Given the description of an element on the screen output the (x, y) to click on. 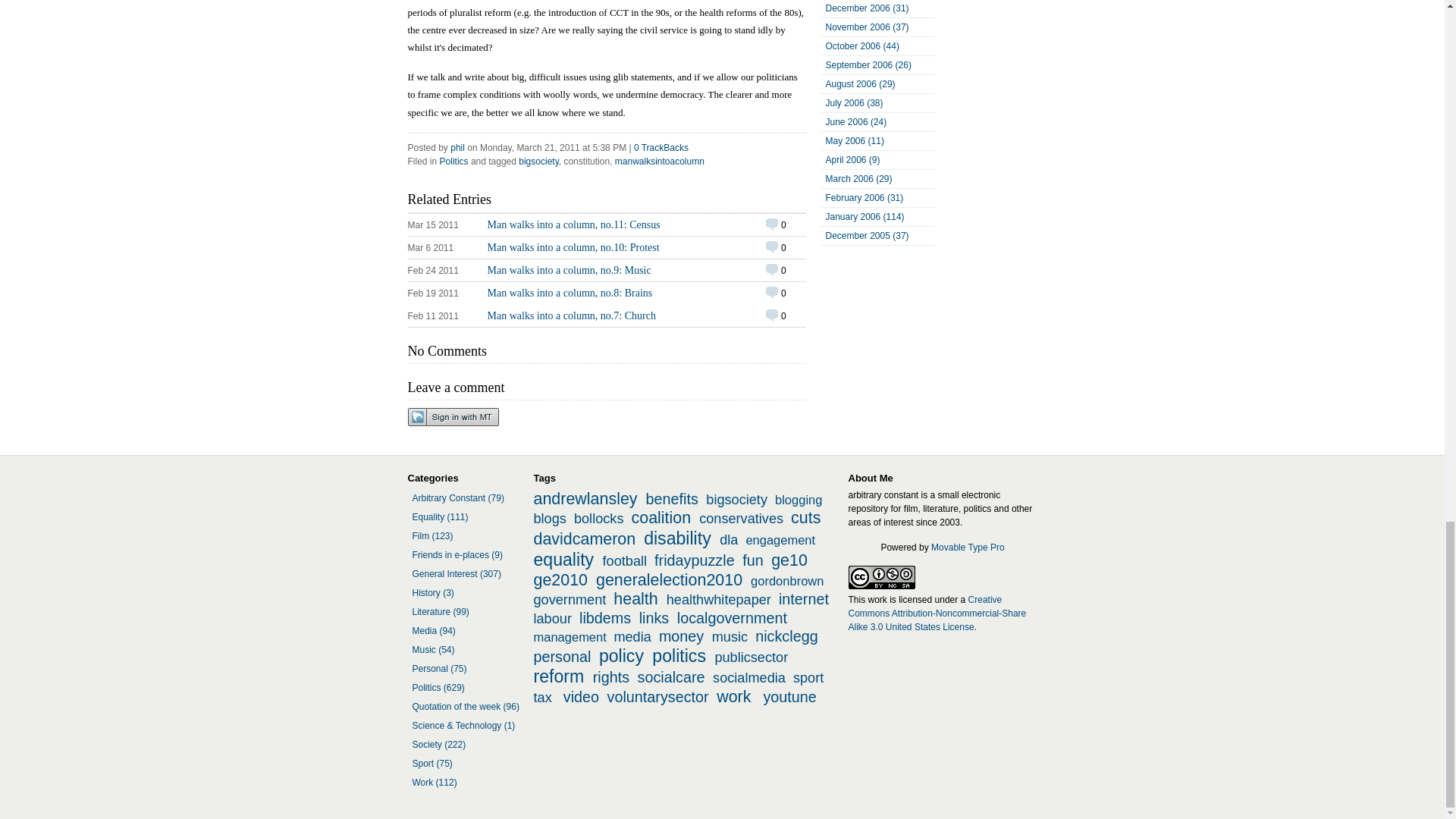
bigsociety (537, 161)
0 TrackBacks (660, 147)
Politics (453, 161)
phil (456, 147)
manwalksintoacolumn (606, 314)
